Given the description of an element on the screen output the (x, y) to click on. 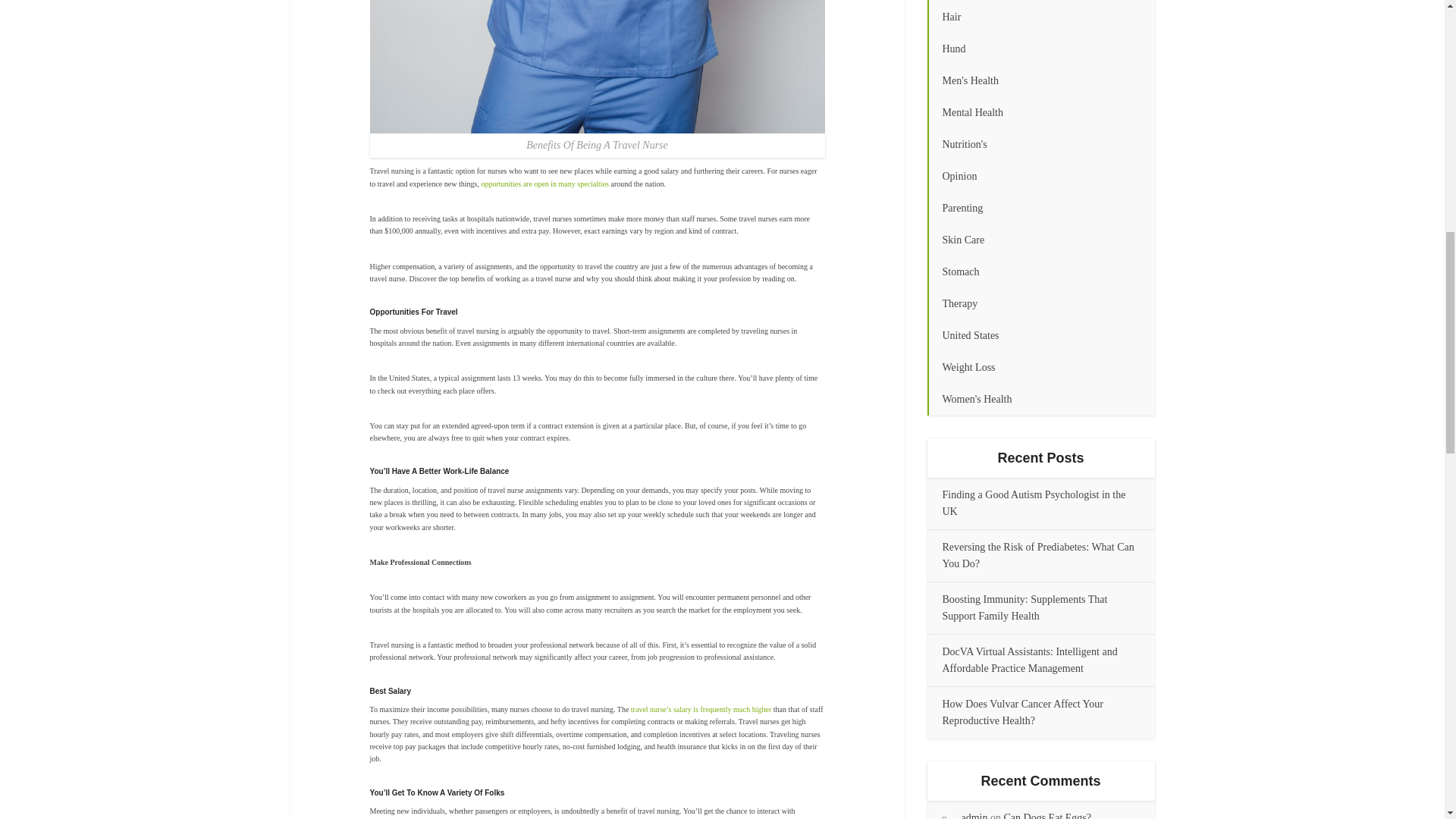
opportunities are open in many specialties (544, 183)
